Given the description of an element on the screen output the (x, y) to click on. 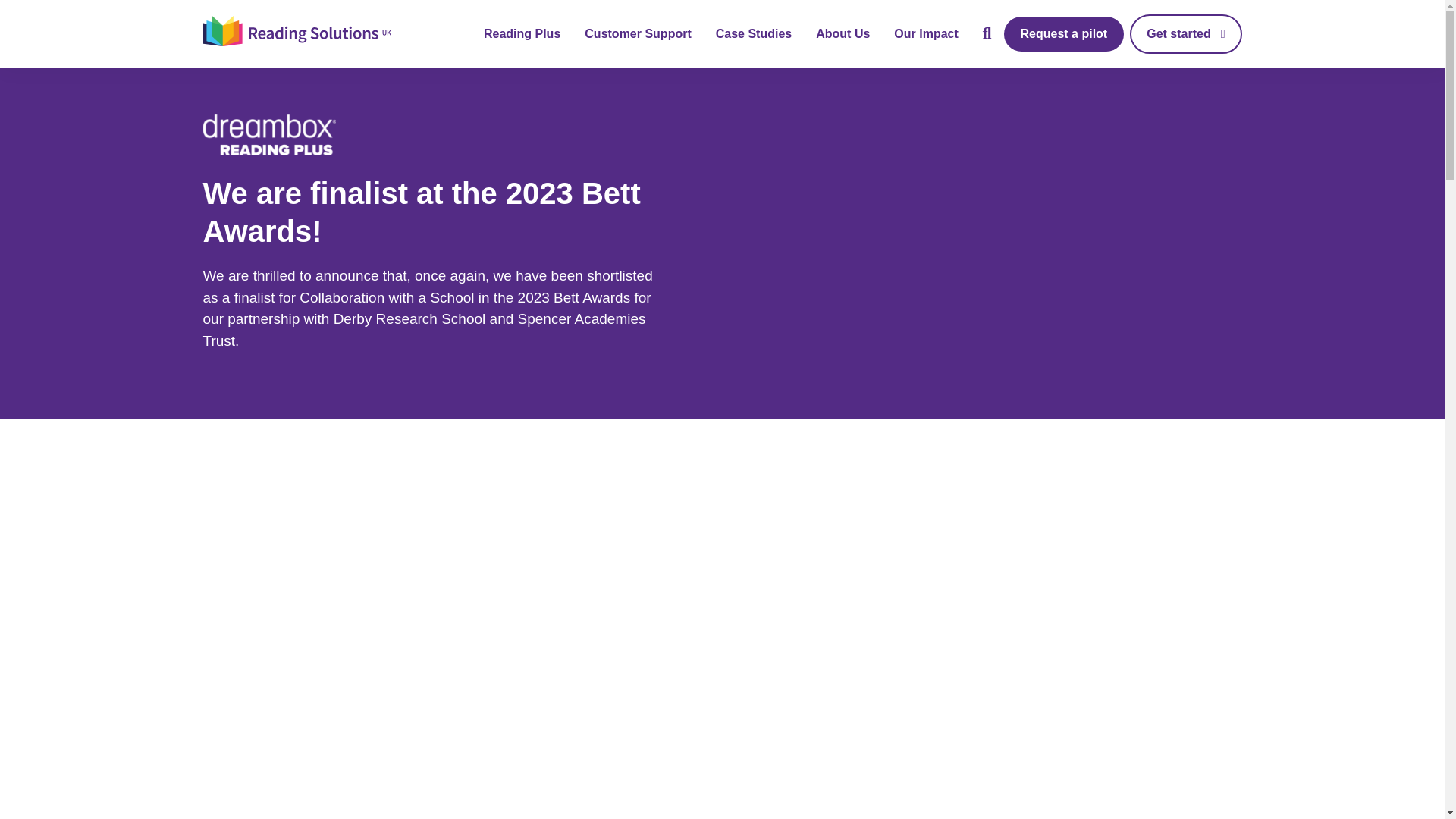
About Us (842, 33)
Reading Plus (521, 33)
Customer Support (637, 33)
Case Studies (754, 33)
